Given the description of an element on the screen output the (x, y) to click on. 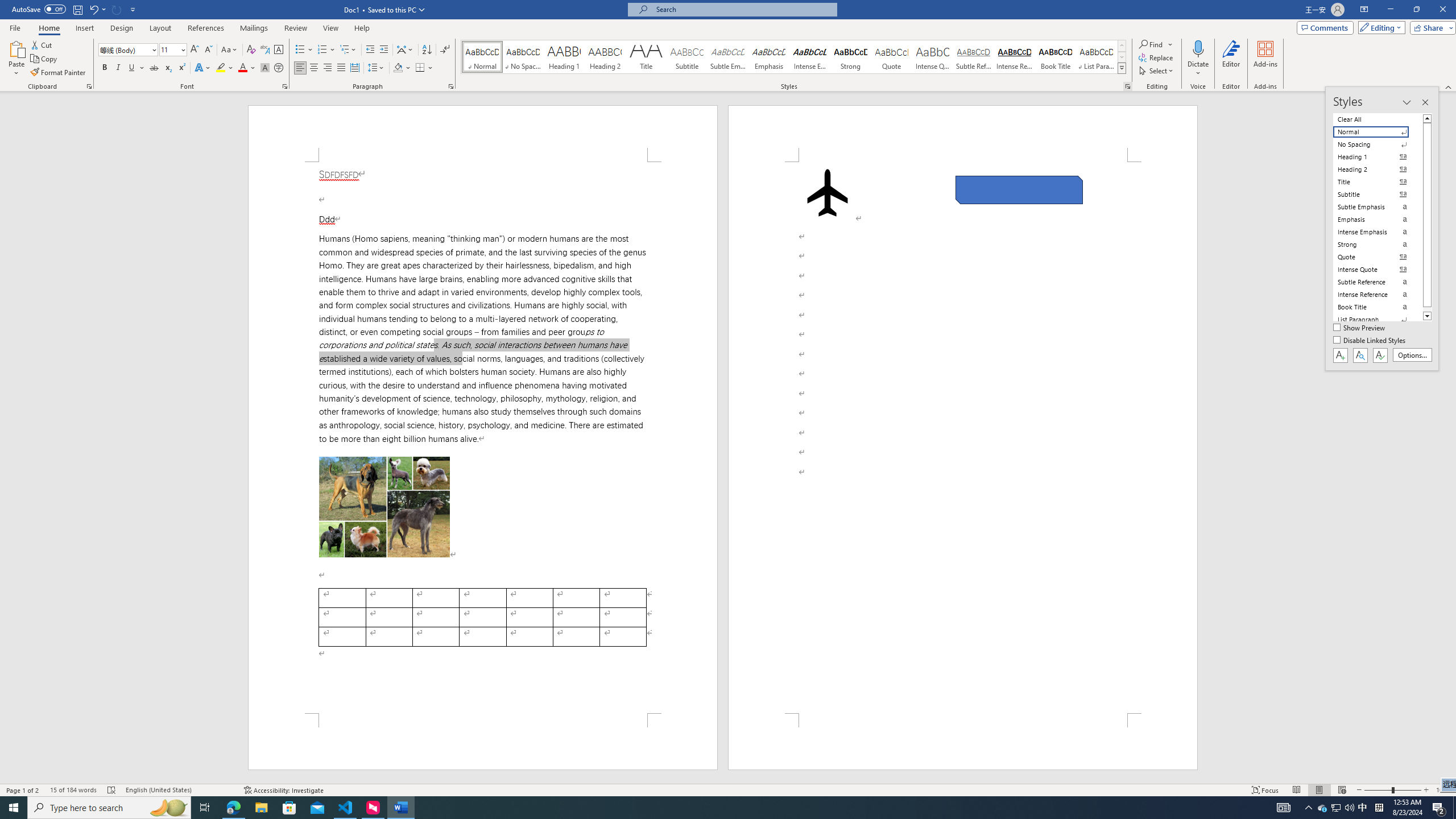
Bold (104, 67)
Morphological variation in six dogs (383, 507)
Insert (83, 28)
Change Case (229, 49)
Intense Quote (932, 56)
System (6, 6)
Increase Indent (383, 49)
Dictate (1197, 48)
Subtle Emphasis (727, 56)
Center (313, 67)
Save (77, 9)
Close pane (1425, 101)
Text Highlight Color (224, 67)
Language English (United States) (178, 790)
